Given the description of an element on the screen output the (x, y) to click on. 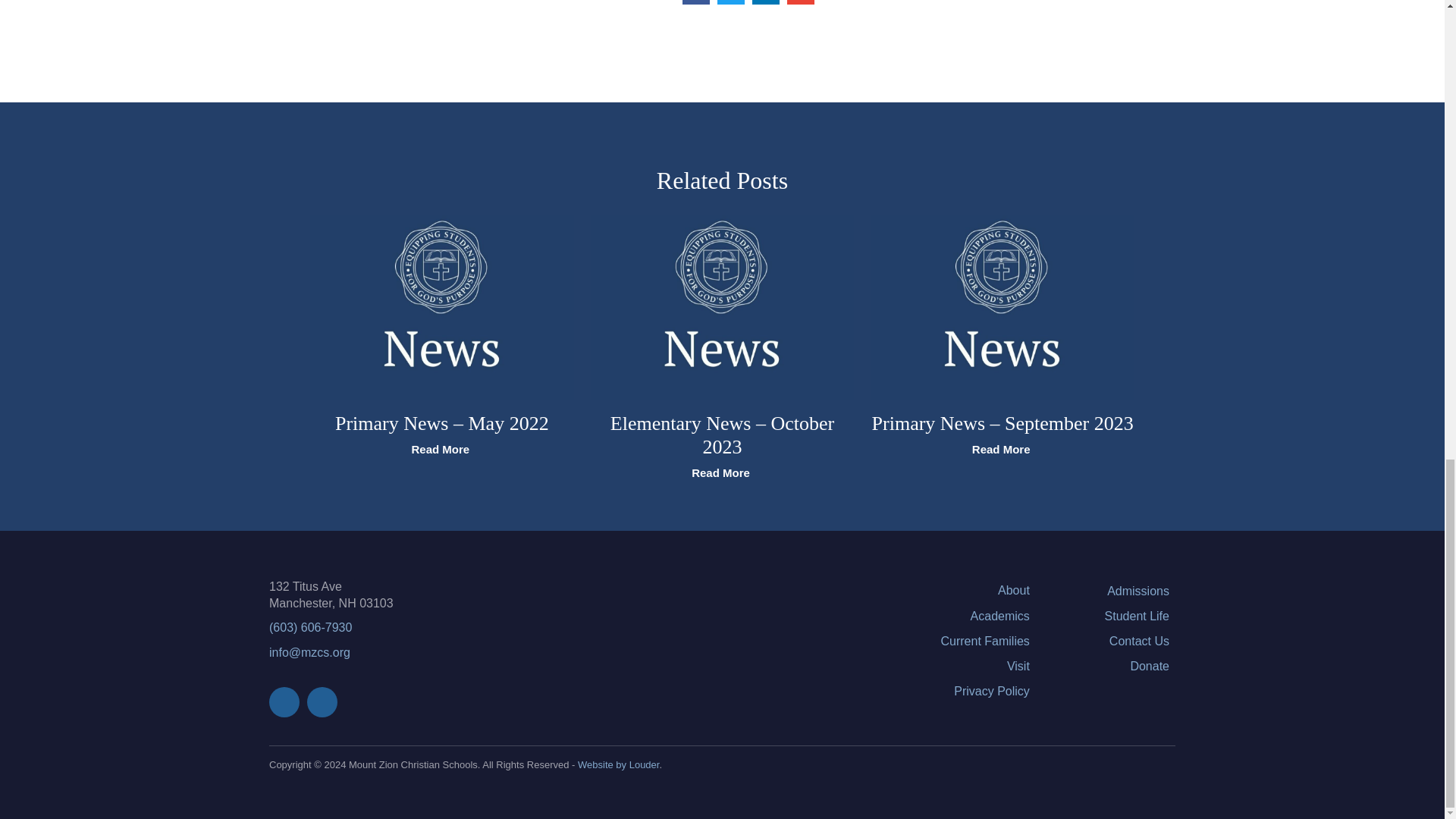
News (1002, 307)
News (722, 307)
News (441, 307)
